Given the description of an element on the screen output the (x, y) to click on. 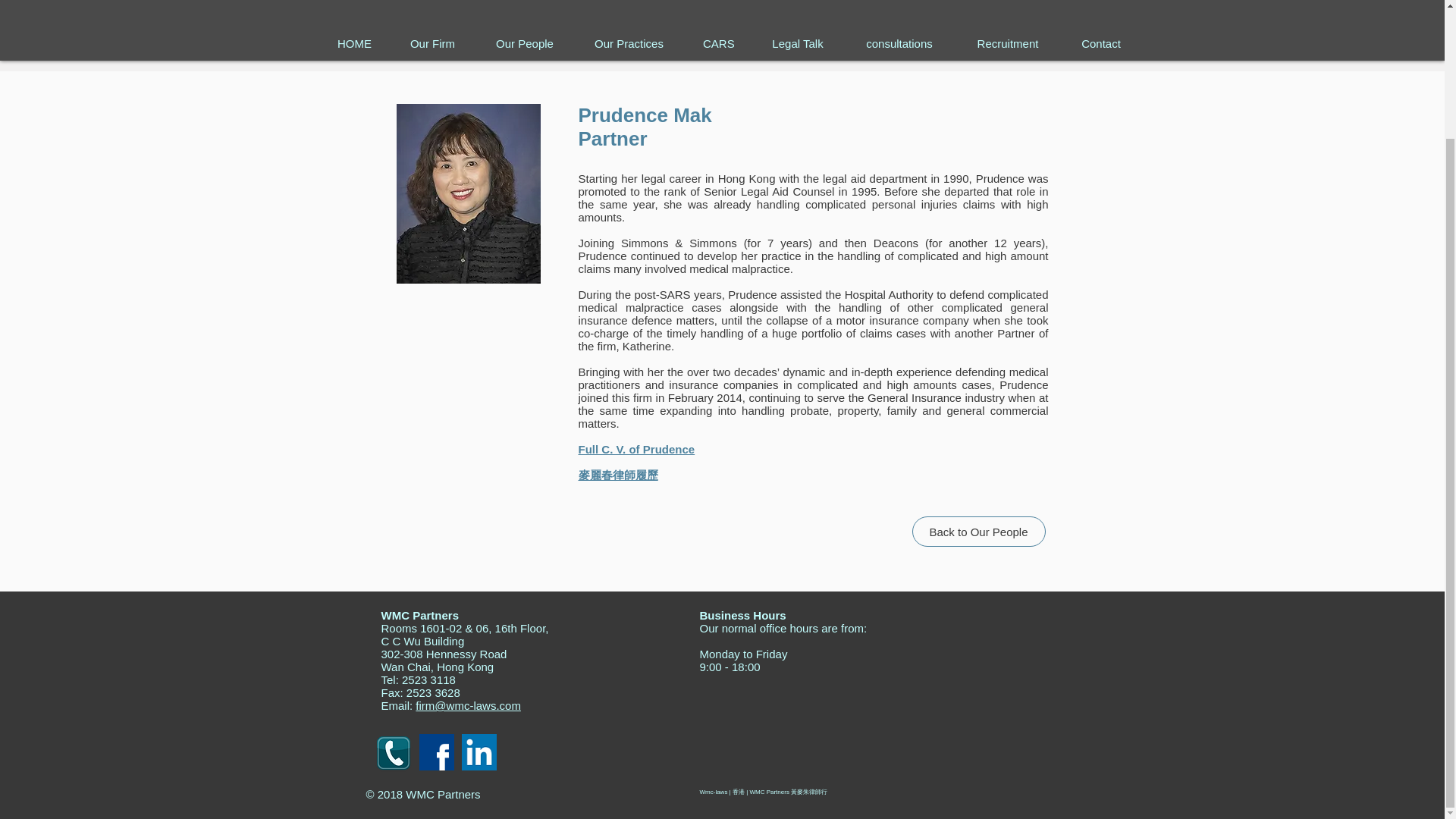
Our Practices (628, 43)
Recruitment (1008, 43)
Our People (524, 43)
Contact (1101, 43)
Legal Talk (797, 43)
Full C. V. of Prudence (636, 449)
consultations (899, 43)
HOME (354, 43)
CARS (717, 43)
Back to Our People (978, 531)
